Given the description of an element on the screen output the (x, y) to click on. 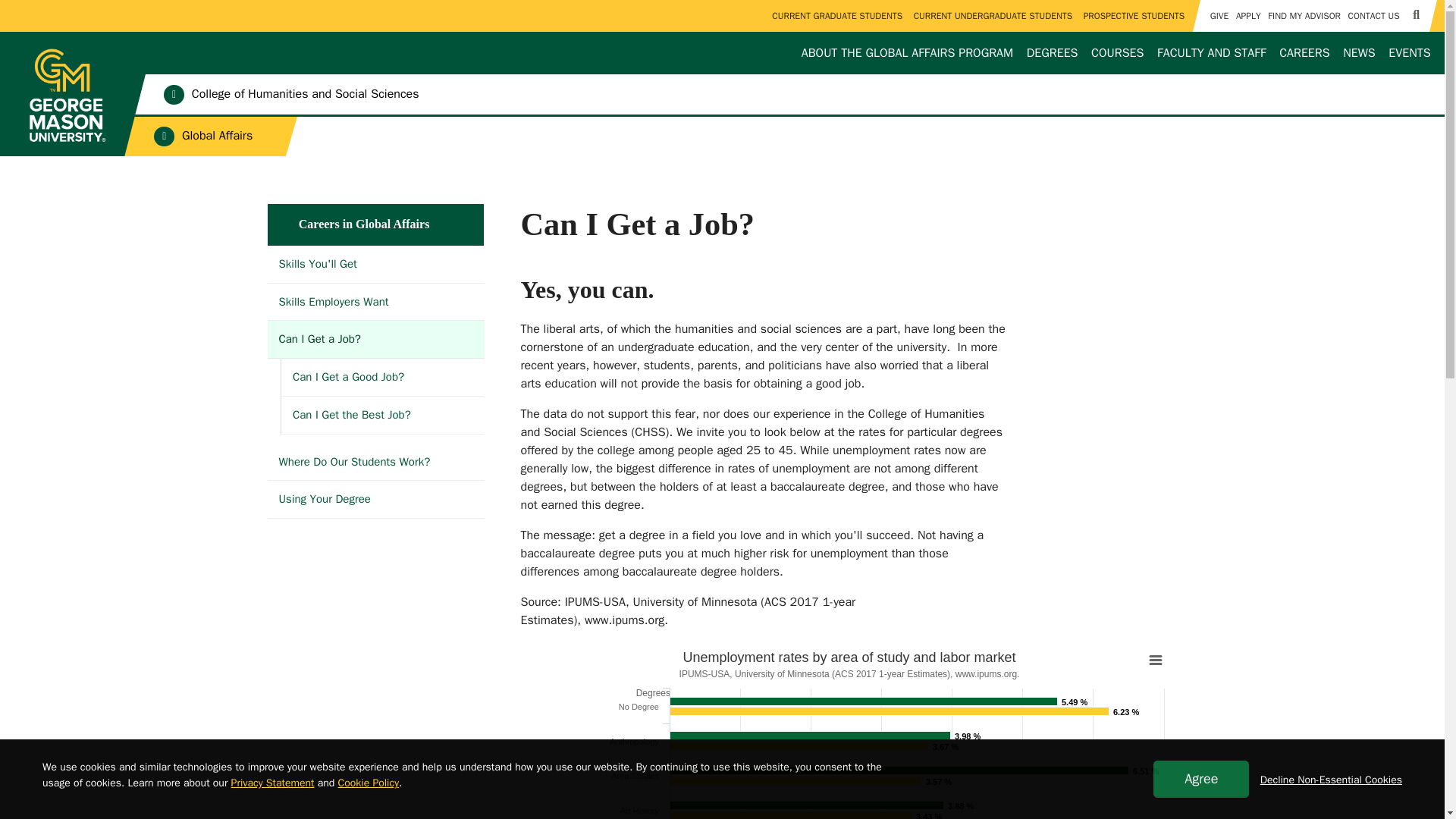
Agree (1201, 778)
News (1359, 52)
Careers (1305, 52)
CURRENT UNDERGRADUATE STUDENTS (992, 15)
Degrees (1052, 52)
Prospective Students (1134, 15)
DEGREES (1052, 52)
Current Graduate Students (837, 15)
APPLY (1247, 15)
George Mason University Cookie Policy (367, 782)
Enter search terms (722, 14)
NEWS (1359, 52)
COURSES (1117, 52)
FACULTY AND STAFF (1212, 52)
Privacy Statement (272, 782)
